Given the description of an element on the screen output the (x, y) to click on. 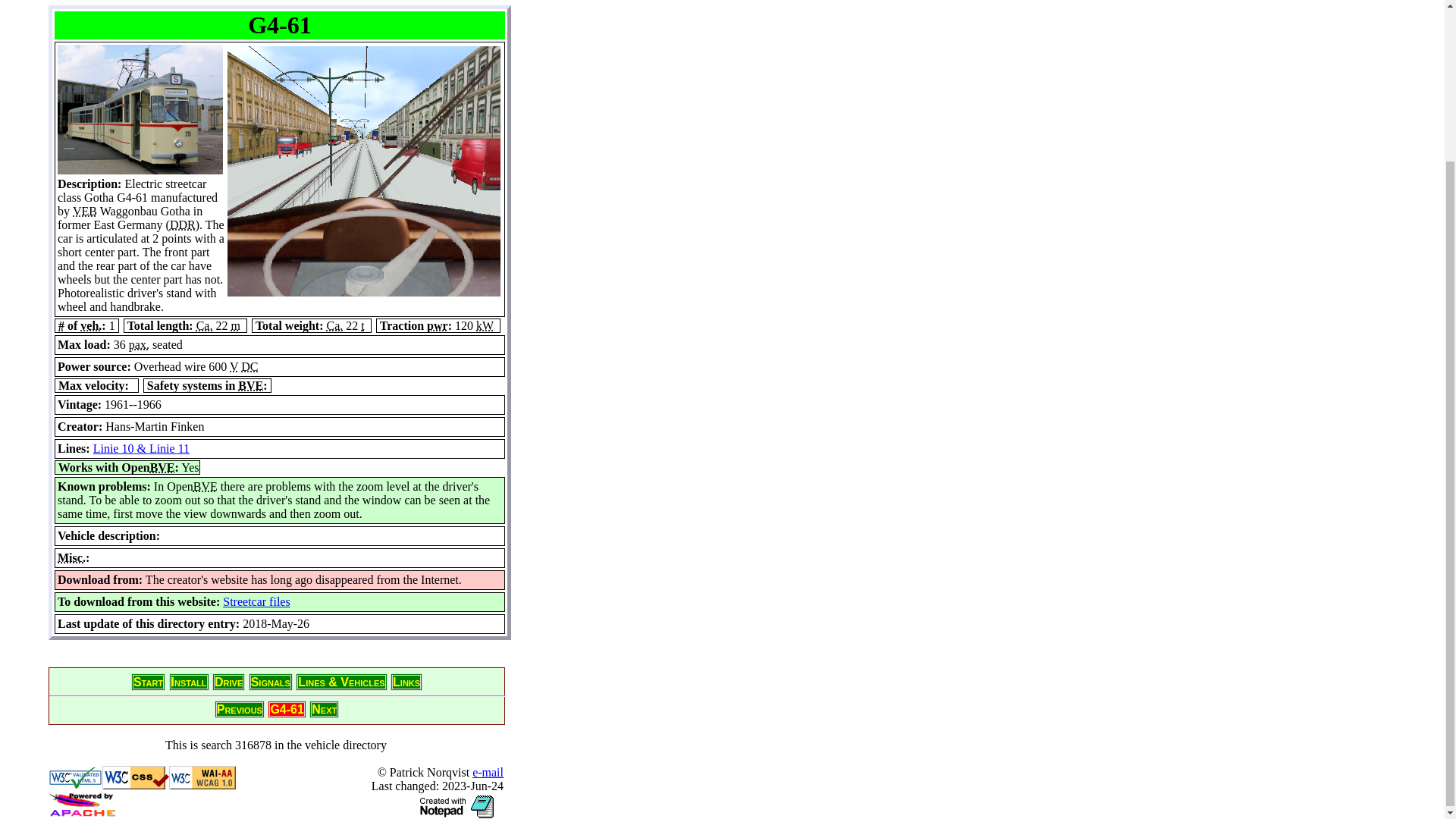
vehicles (90, 325)
Boso View Express (161, 467)
kilowatt (484, 325)
Signals (270, 682)
You are now at a subpage to this page (341, 682)
direct current (249, 366)
Start (148, 682)
passengers (139, 344)
power (437, 325)
Boso View Express (250, 385)
Install (188, 682)
Streetcar files (255, 601)
Circa (204, 325)
Previous (239, 709)
e-mail (487, 771)
